Given the description of an element on the screen output the (x, y) to click on. 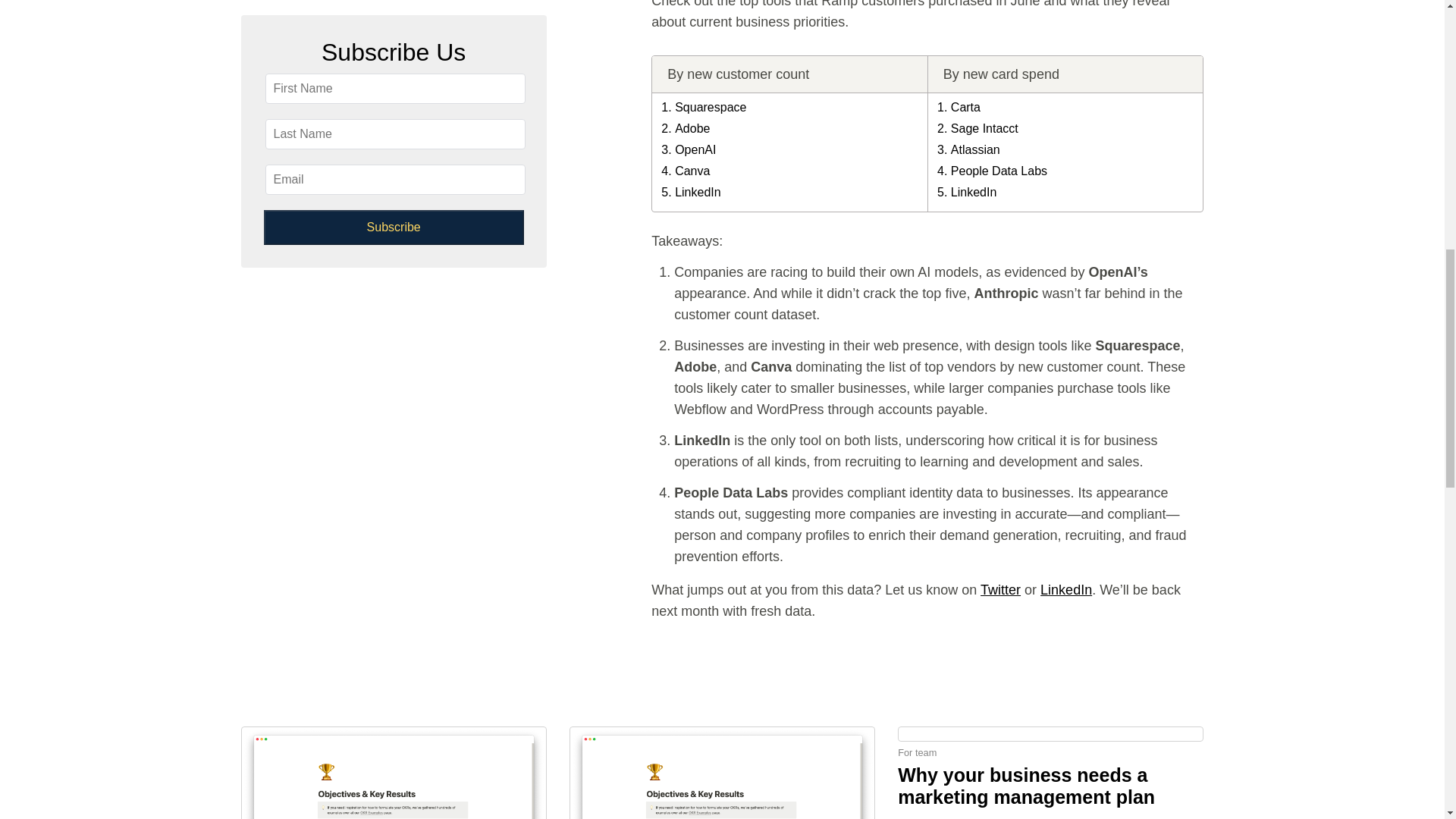
Subscribe (393, 29)
Subscribe (393, 29)
Why your business needs a marketing management plan (1026, 785)
Twitter (999, 589)
LinkedIn (1066, 589)
